Given the description of an element on the screen output the (x, y) to click on. 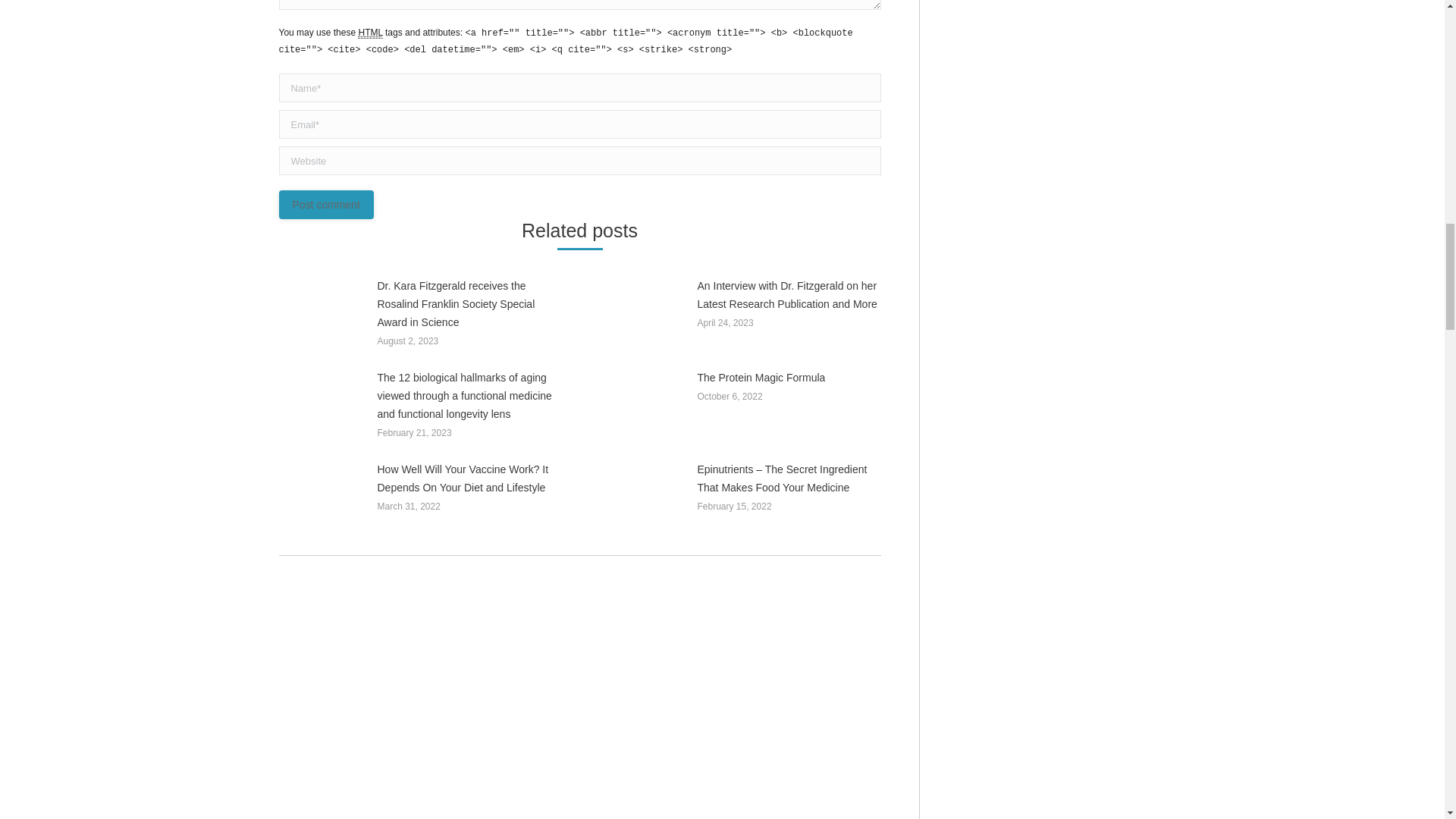
HyperText Markup Language (369, 32)
